Given the description of an element on the screen output the (x, y) to click on. 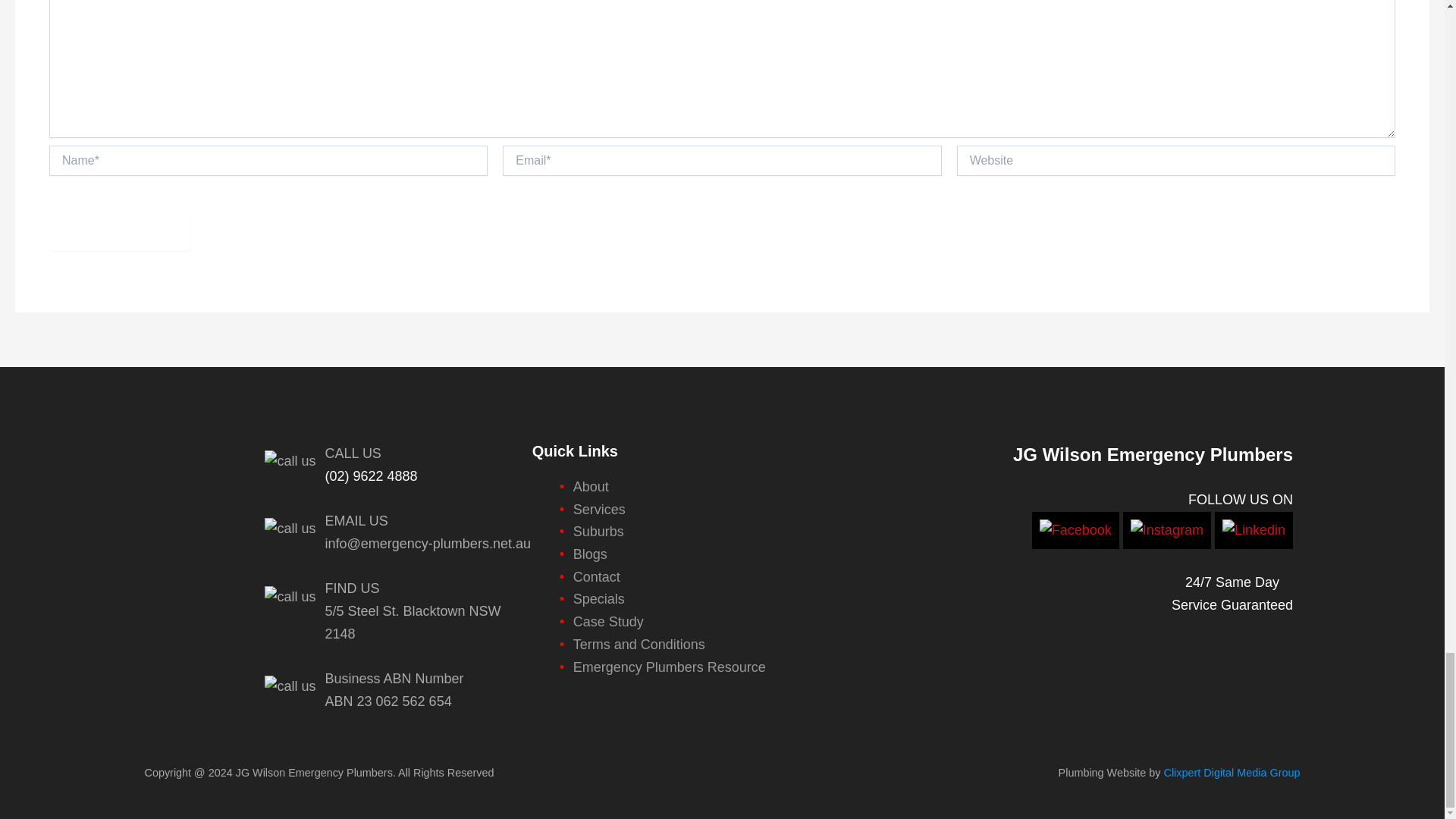
Post Comment (119, 228)
